Given the description of an element on the screen output the (x, y) to click on. 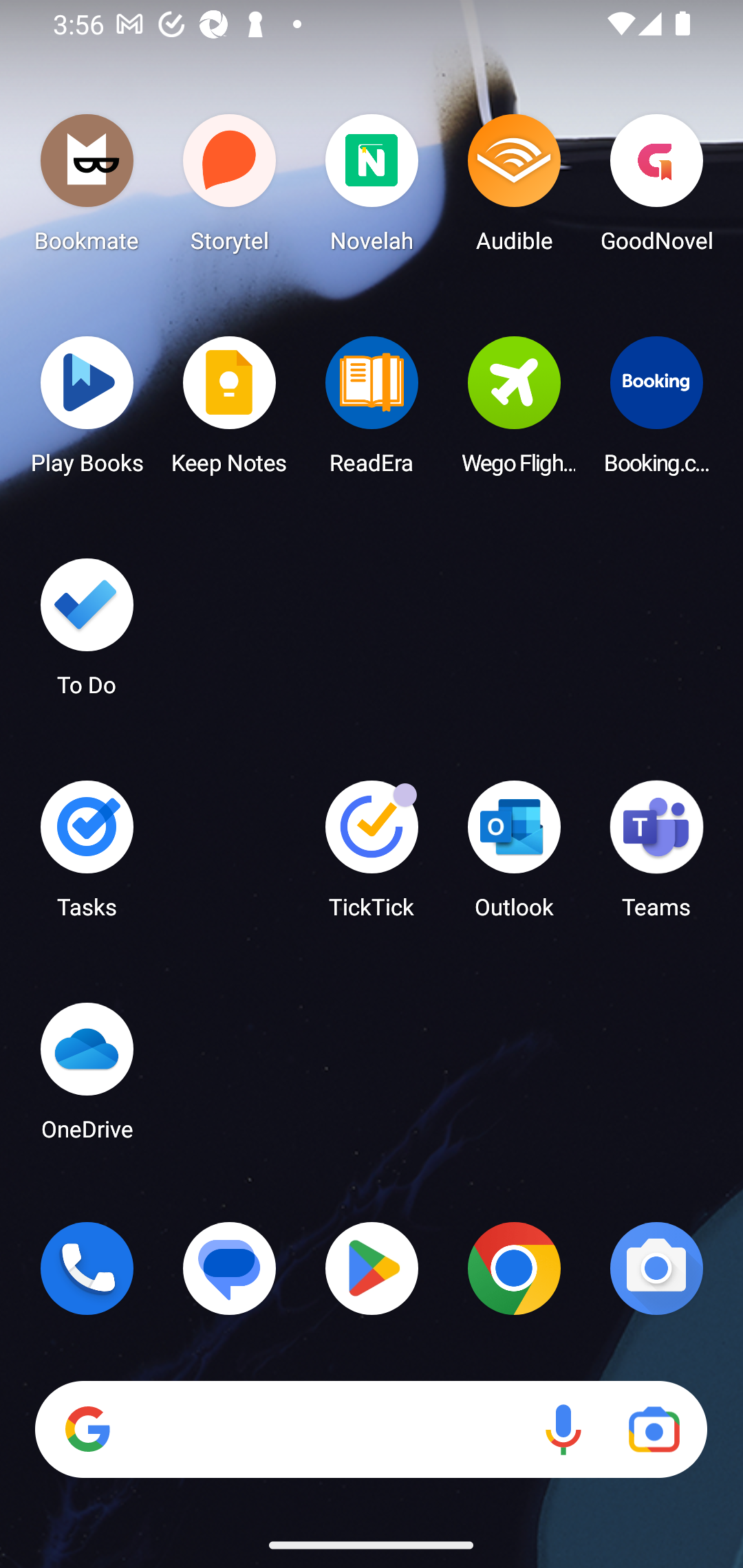
Bookmate (86, 188)
Storytel (229, 188)
Novelah (371, 188)
Audible (513, 188)
GoodNovel (656, 188)
Play Books (86, 410)
Keep Notes (229, 410)
ReadEra (371, 410)
Wego Flights & Hotels (513, 410)
Booking.com (656, 410)
To Do (86, 633)
Tasks (86, 854)
TickTick TickTick has 3 notifications (371, 854)
Outlook (513, 854)
Teams (656, 854)
OneDrive (86, 1076)
Phone (86, 1268)
Messages (229, 1268)
Play Store (371, 1268)
Chrome (513, 1268)
Camera (656, 1268)
Search Voice search Google Lens (370, 1429)
Voice search (562, 1429)
Google Lens (653, 1429)
